Given the description of an element on the screen output the (x, y) to click on. 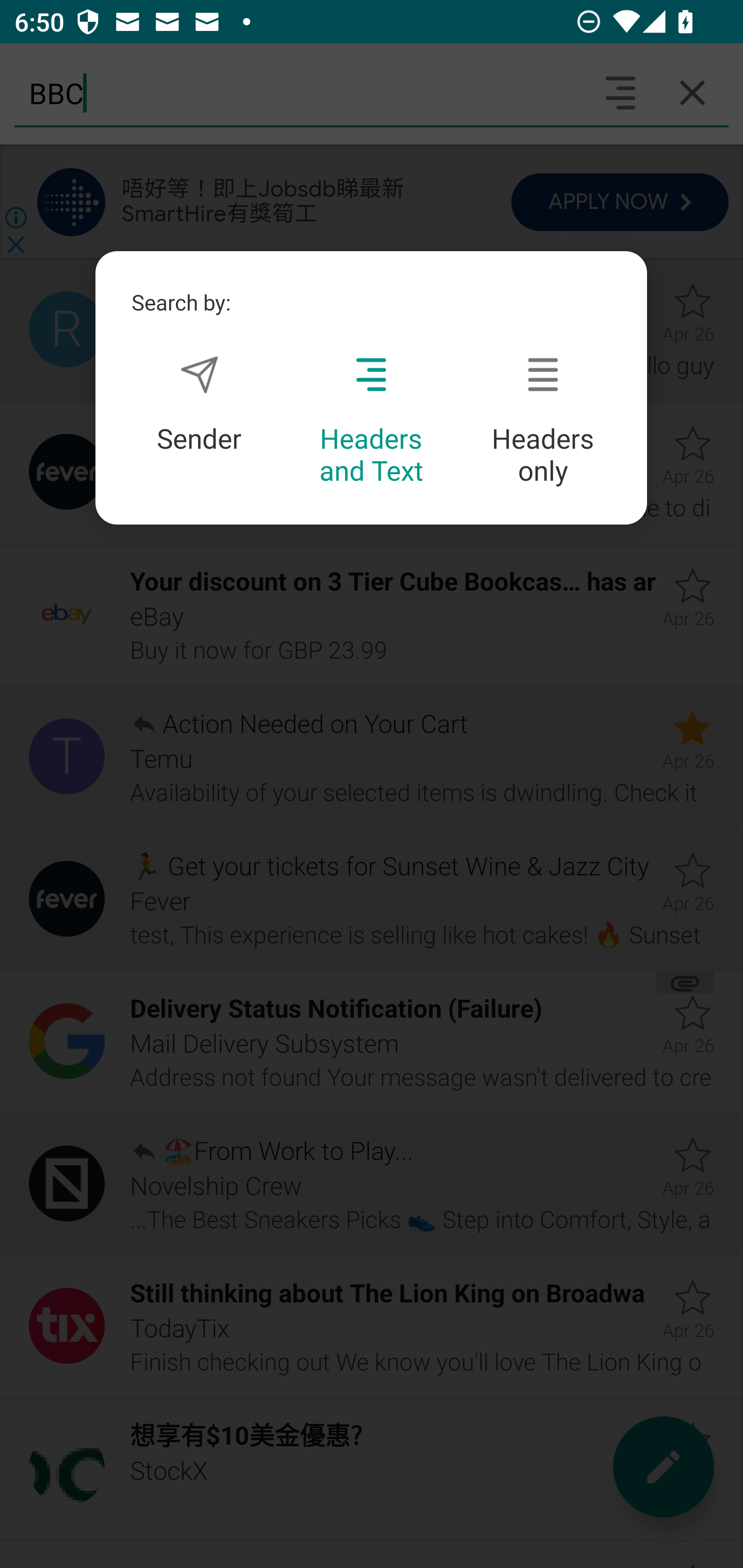
Sender (199, 404)
Headers and Text (371, 420)
Headers only (542, 420)
